Given the description of an element on the screen output the (x, y) to click on. 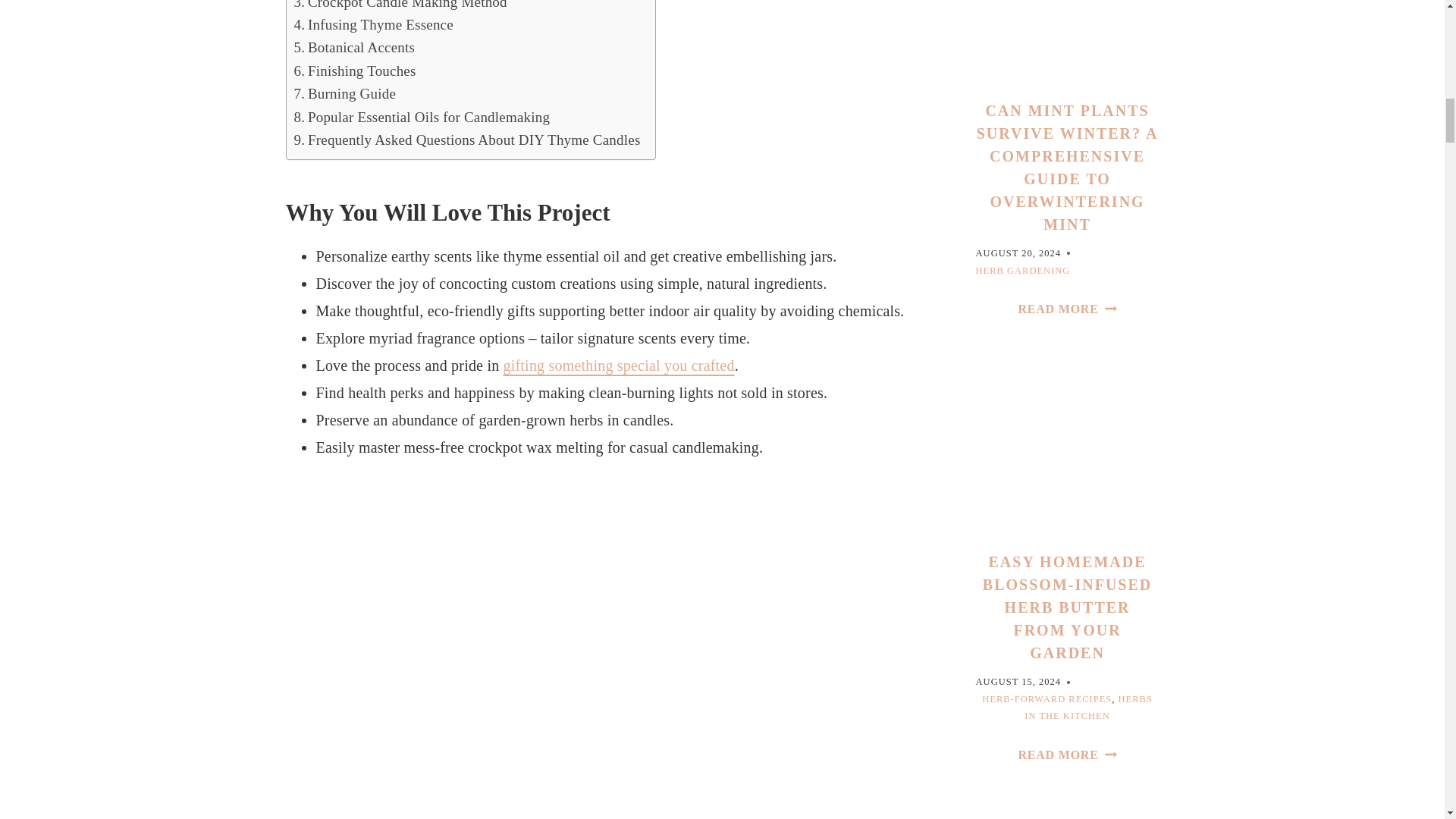
Frequently Asked Questions About DIY Thyme Candles (467, 139)
gifting something special you crafted (619, 365)
Botanical Accents (354, 47)
Finishing Touches (355, 70)
Popular Essential Oils for Candlemaking (422, 117)
Infusing Thyme Essence (373, 24)
Popular Essential Oils for Candlemaking (422, 117)
Infusing Thyme Essence (373, 24)
Burning Guide (345, 93)
Burning Guide (345, 93)
